Given the description of an element on the screen output the (x, y) to click on. 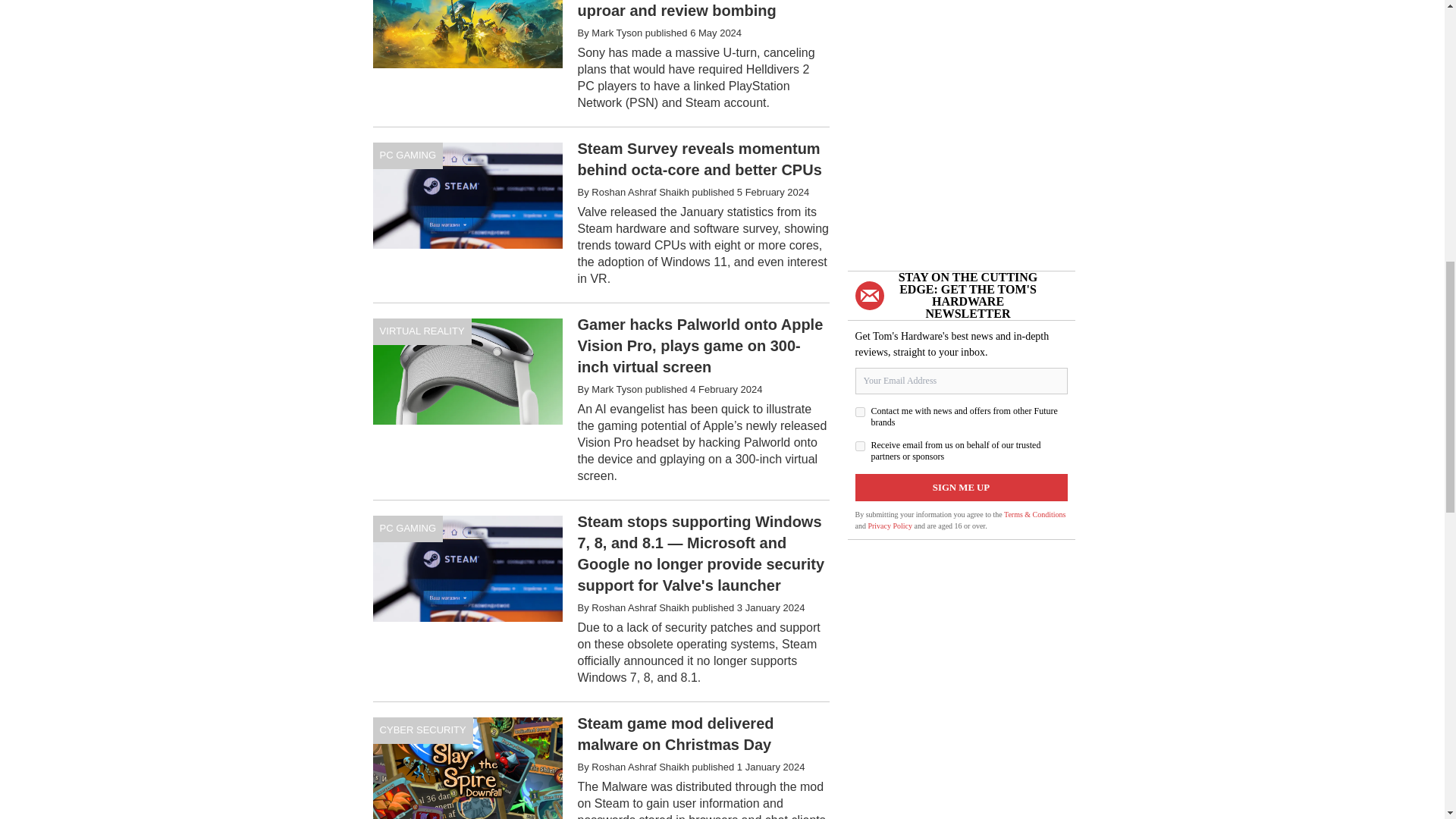
Sign me up (961, 487)
